Given the description of an element on the screen output the (x, y) to click on. 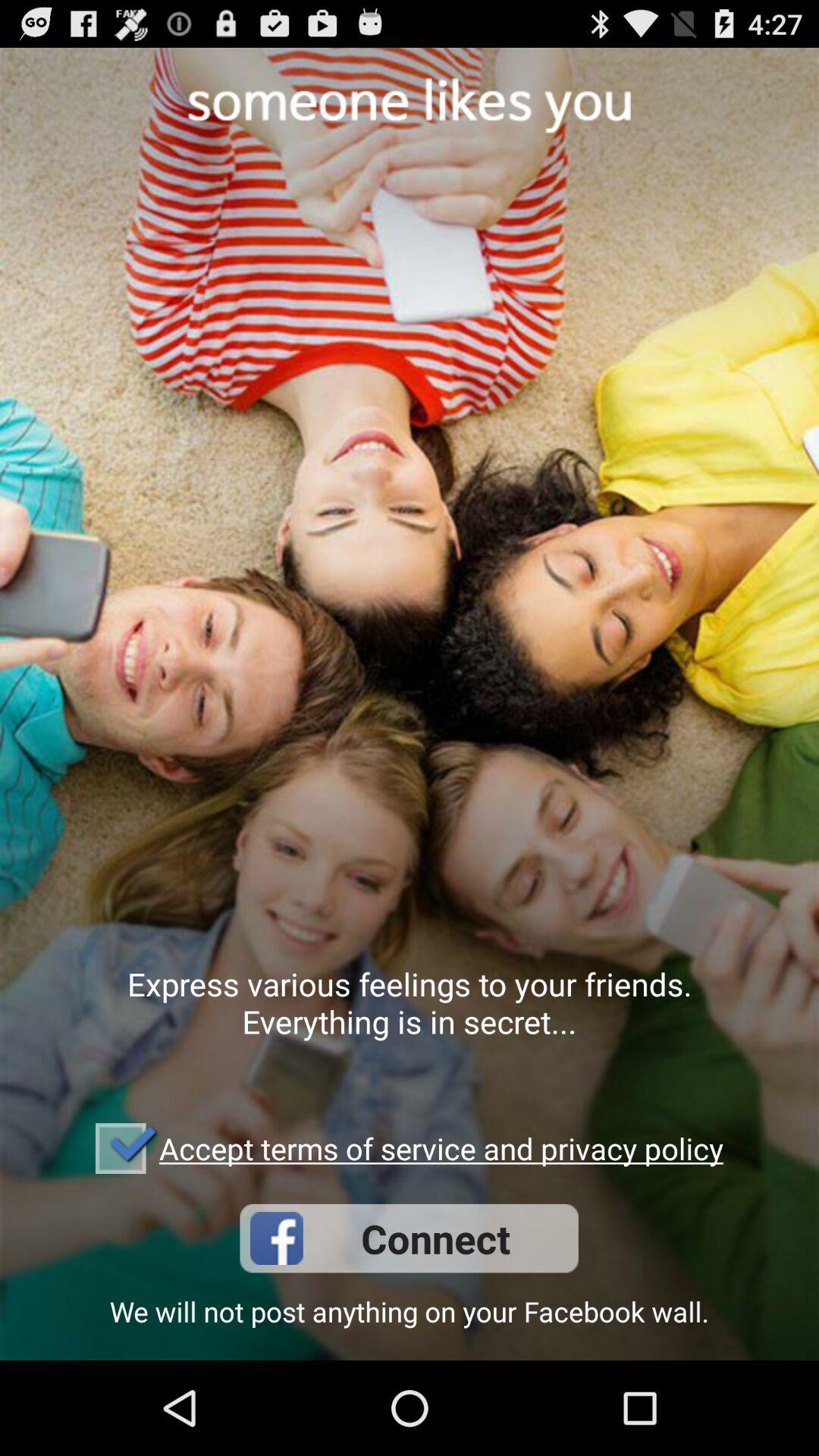
turn off the icon above connect icon (441, 1148)
